Given the description of an element on the screen output the (x, y) to click on. 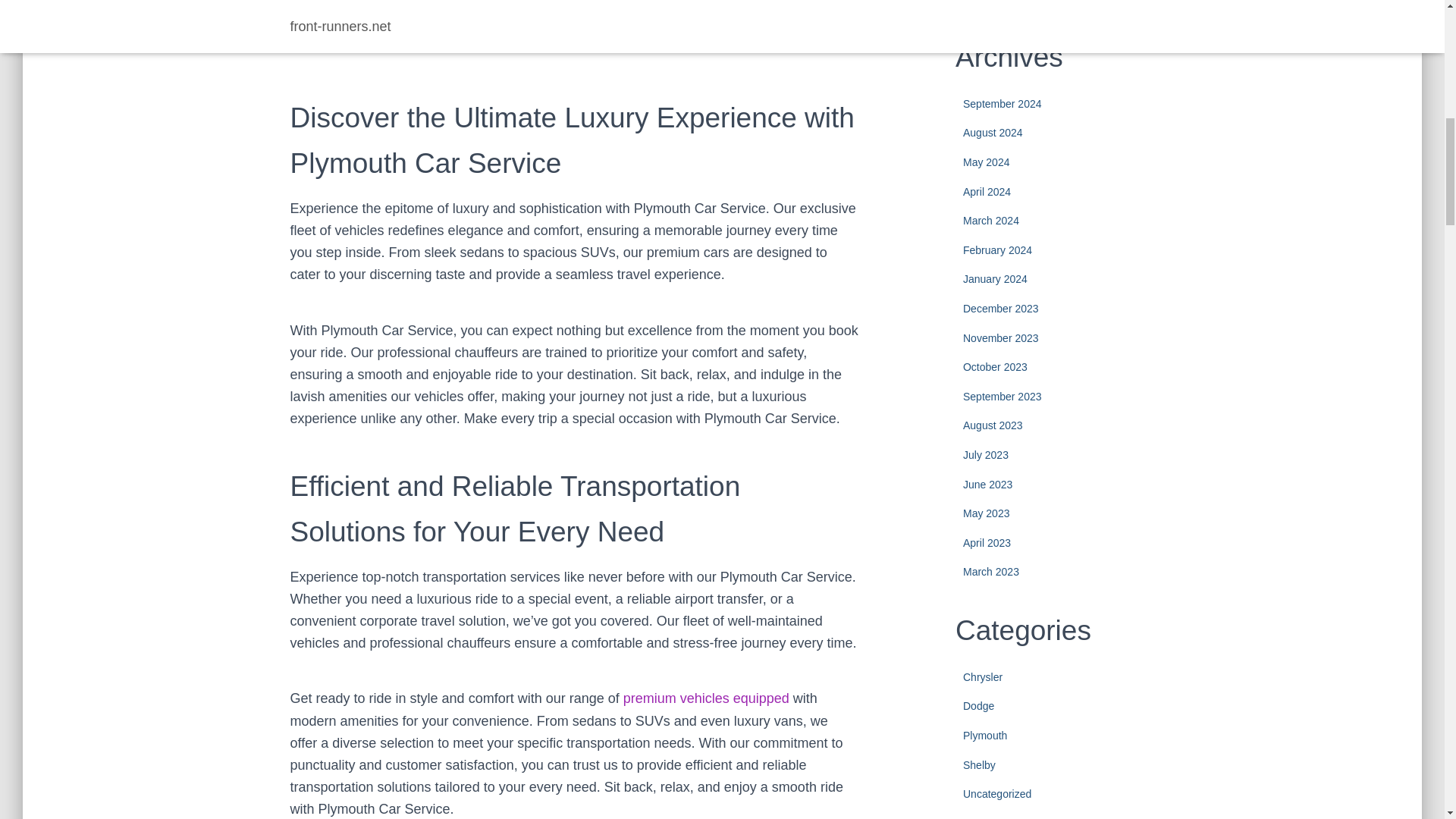
Closing Remarks (371, 1)
premium vehicles equipped (706, 698)
March 2024 (990, 220)
May 2024 (985, 162)
February 2024 (997, 250)
April 2024 (986, 191)
September 2024 (1002, 103)
August 2024 (992, 132)
Hello world! (1066, 4)
plymouth car rental companies (706, 698)
